Given the description of an element on the screen output the (x, y) to click on. 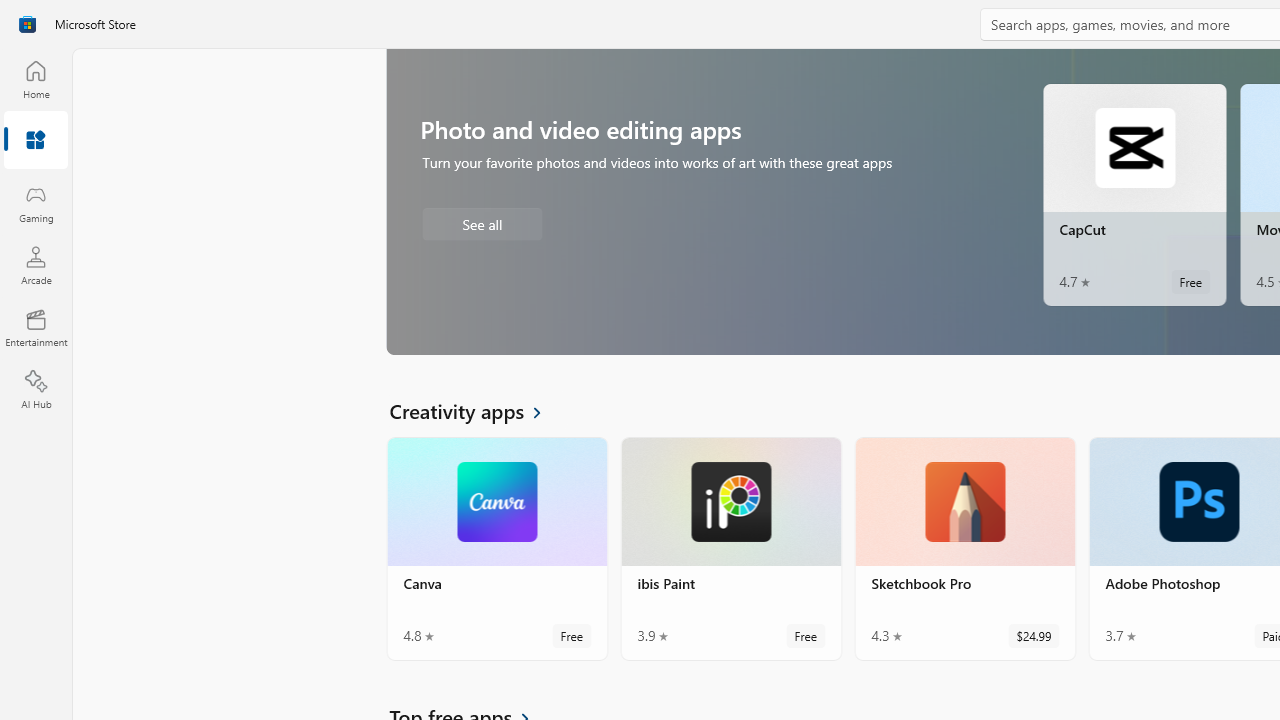
AI Hub (35, 390)
Arcade (35, 265)
See all  Creativity apps (477, 410)
Gaming (35, 203)
ibis Paint. Average rating of 3.9 out of five stars. Free   (730, 548)
Entertainment (35, 327)
Apps (35, 141)
Home (35, 79)
Canva. Average rating of 4.8 out of five stars. Free   (497, 548)
Class: Image (27, 24)
See all  Photo and video editing apps (481, 223)
CapCut. Average rating of 4.7 out of five stars. Free   (1134, 194)
